Given the description of an element on the screen output the (x, y) to click on. 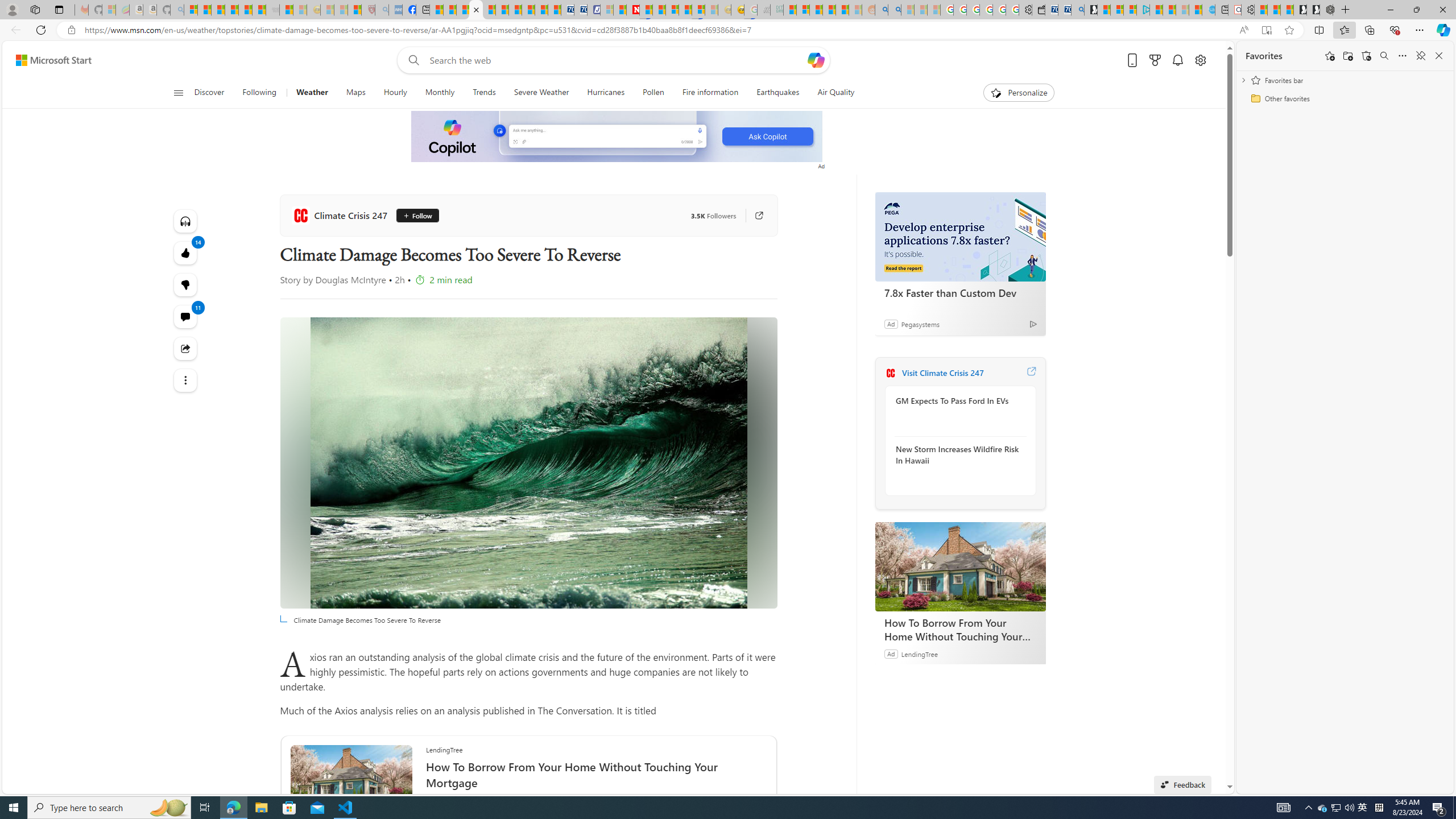
Maps (355, 92)
Wallet (1037, 9)
Trends (484, 92)
Climate Damage Becomes Too Severe To Reverse (528, 462)
Search favorites (1383, 55)
Climate Crisis 247 (341, 215)
Monthly (439, 92)
